Given the description of an element on the screen output the (x, y) to click on. 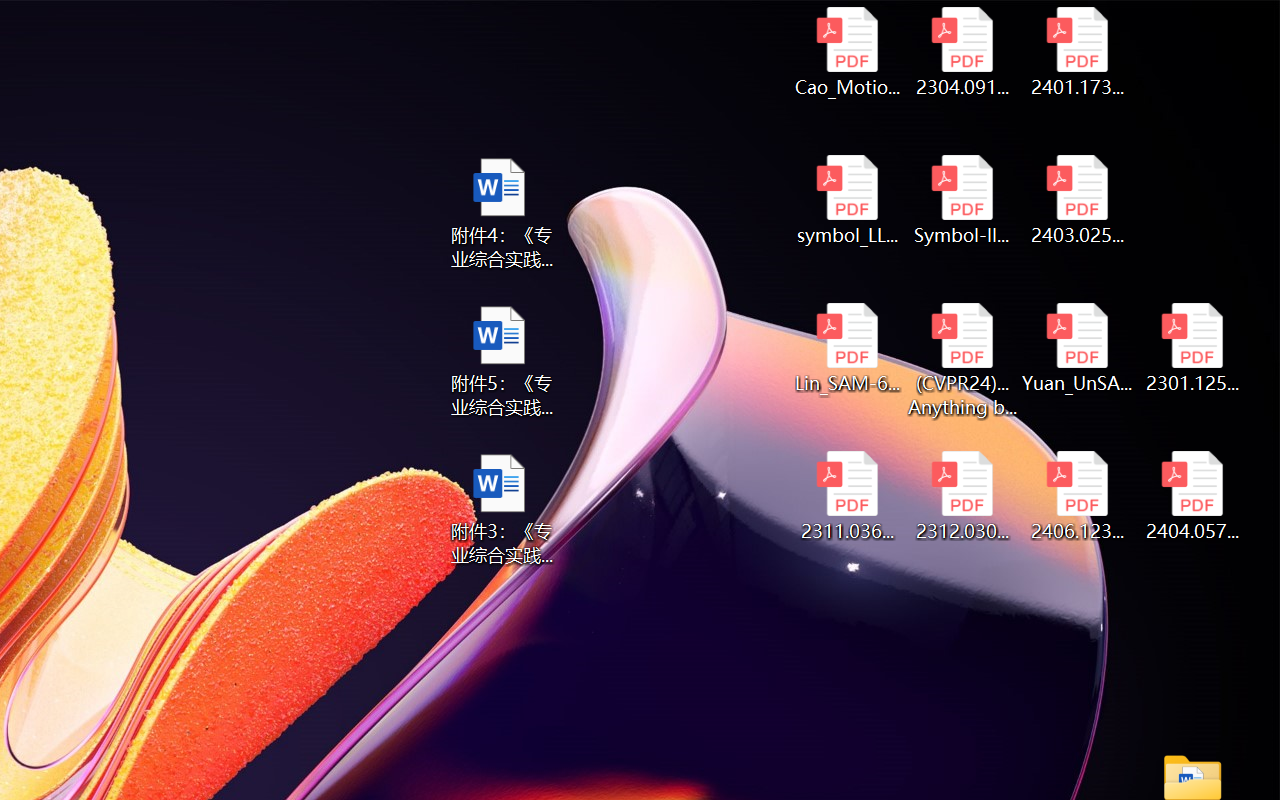
2406.12373v2.pdf (1077, 496)
2403.02502v1.pdf (1077, 200)
Symbol-llm-v2.pdf (962, 200)
2312.03032v2.pdf (962, 496)
2304.09121v3.pdf (962, 52)
symbol_LLM.pdf (846, 200)
2401.17399v1.pdf (1077, 52)
(CVPR24)Matching Anything by Segmenting Anything.pdf (962, 360)
2311.03658v2.pdf (846, 496)
2301.12597v3.pdf (1192, 348)
2404.05719v1.pdf (1192, 496)
